Given the description of an element on the screen output the (x, y) to click on. 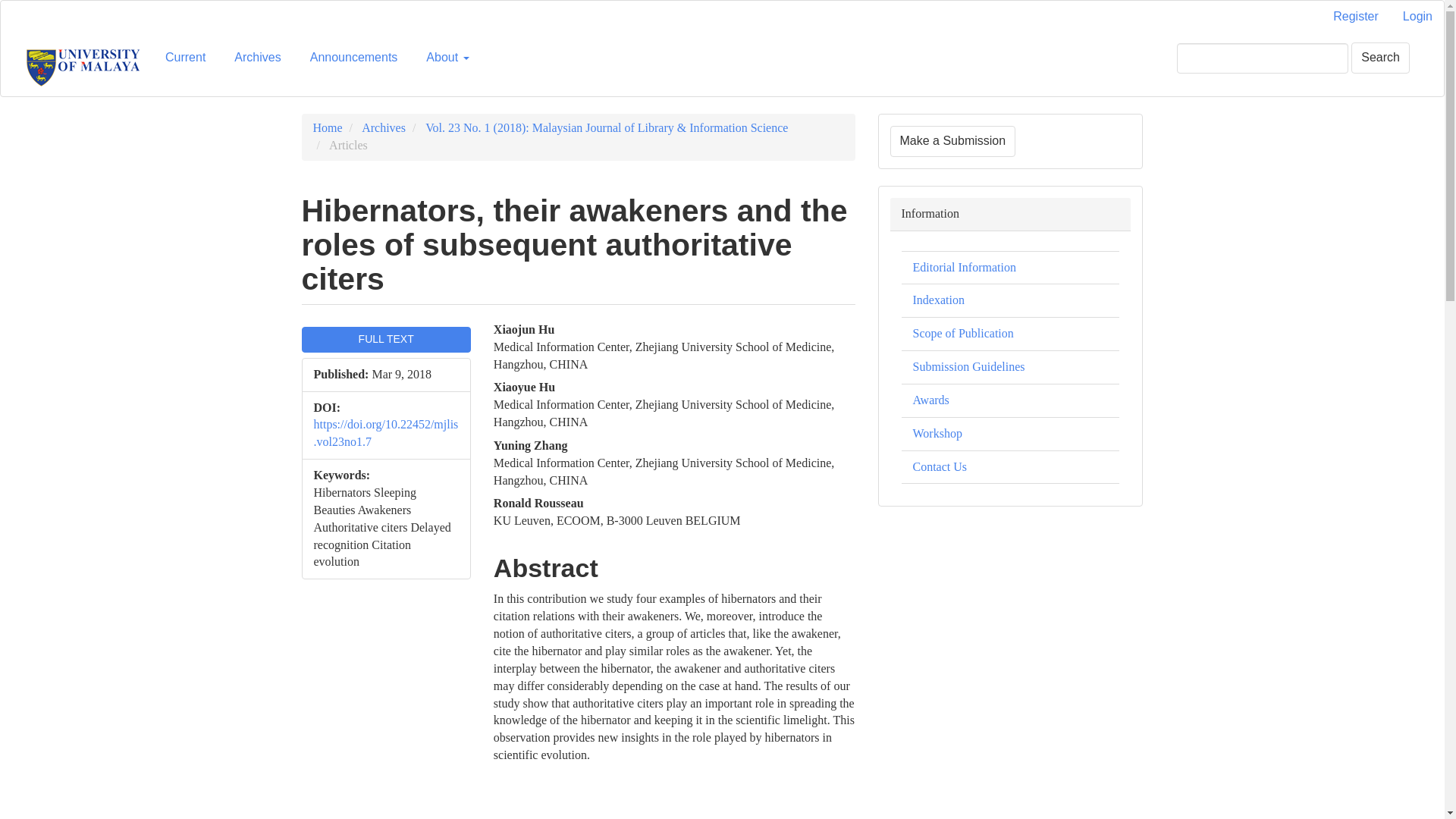
Register (1356, 16)
Home (327, 127)
Workshop (937, 432)
Submission Guidelines (968, 366)
FULL TEXT (385, 339)
Archives (256, 57)
Login (1417, 16)
Editorial Information (964, 267)
Contact Us (940, 466)
Indexation (937, 299)
